Given the description of an element on the screen output the (x, y) to click on. 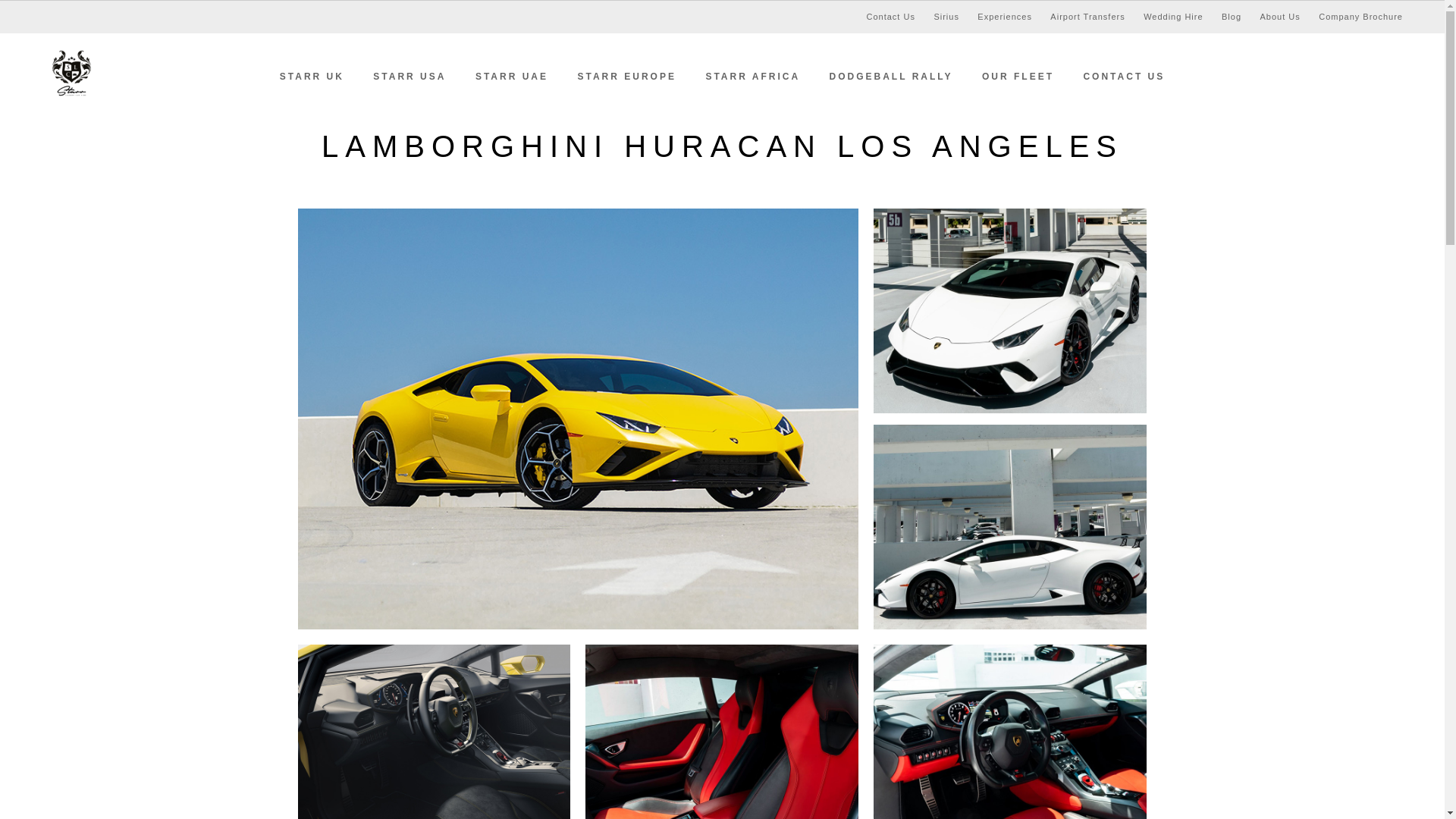
Blog (1231, 16)
Contact Us (890, 16)
Experiences (1004, 16)
Sirius (946, 16)
Company Brochure (1361, 16)
STARR UK (311, 76)
STARR UAE (511, 76)
Airport Transfers (1086, 16)
Wedding Hire (1172, 16)
About Us (1280, 16)
STARR USA (408, 76)
